Given the description of an element on the screen output the (x, y) to click on. 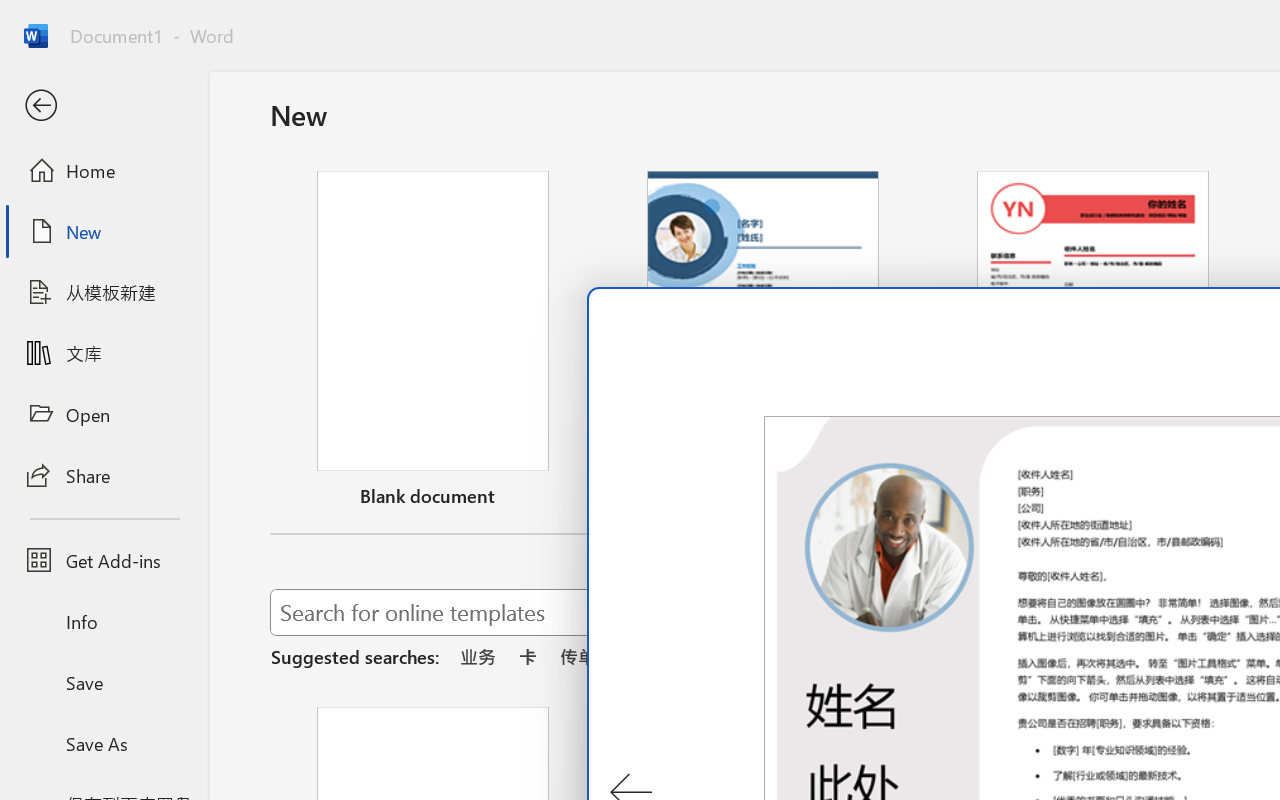
Info (104, 621)
New (104, 231)
Get Add-ins (104, 560)
Back (104, 106)
Save As (104, 743)
